Given the description of an element on the screen output the (x, y) to click on. 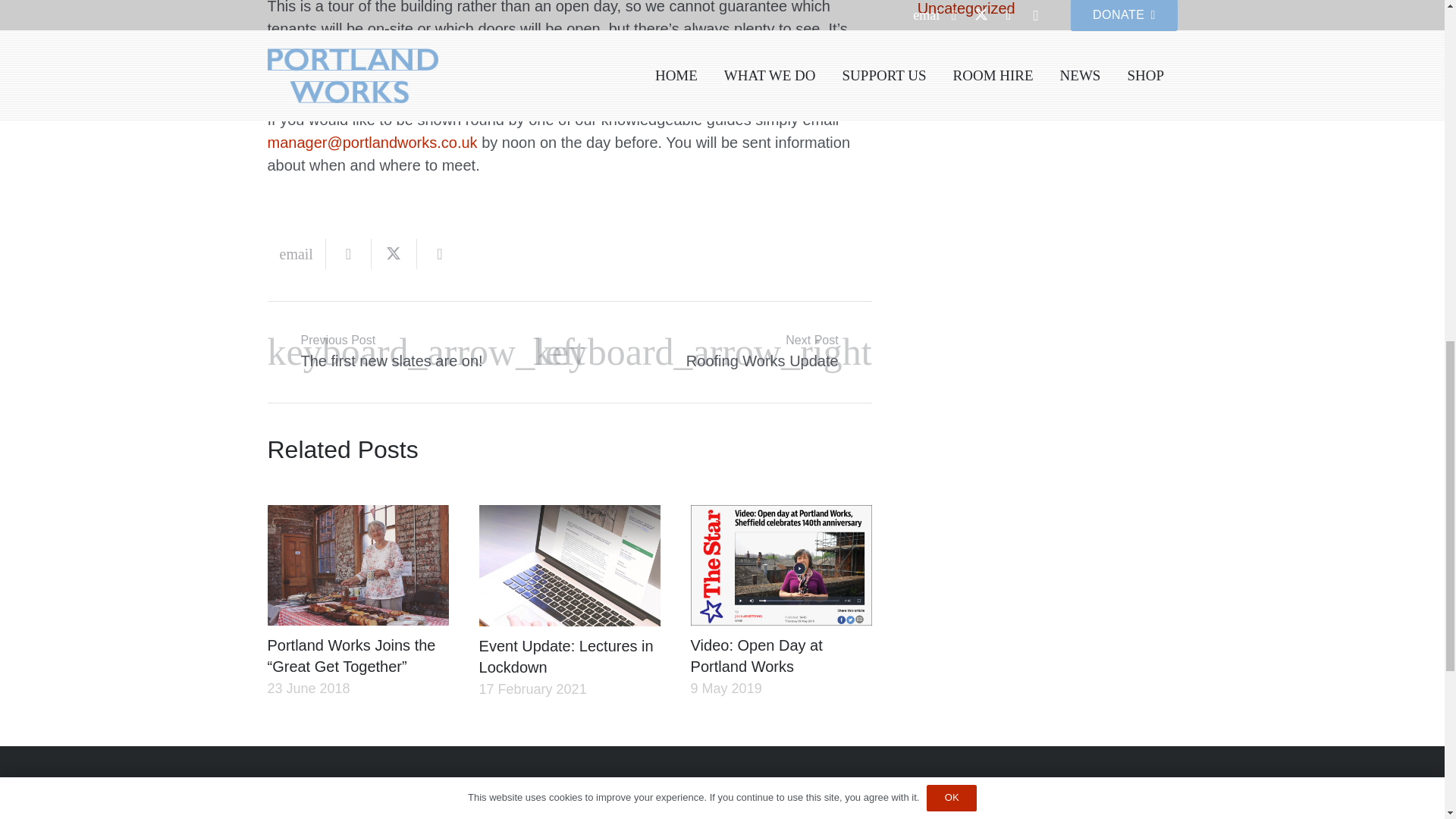
Share this (439, 254)
The first new slates are on! (417, 351)
Email this (295, 254)
Roofing Works Update (720, 351)
Tweet this (393, 254)
Share this (348, 254)
